Given the description of an element on the screen output the (x, y) to click on. 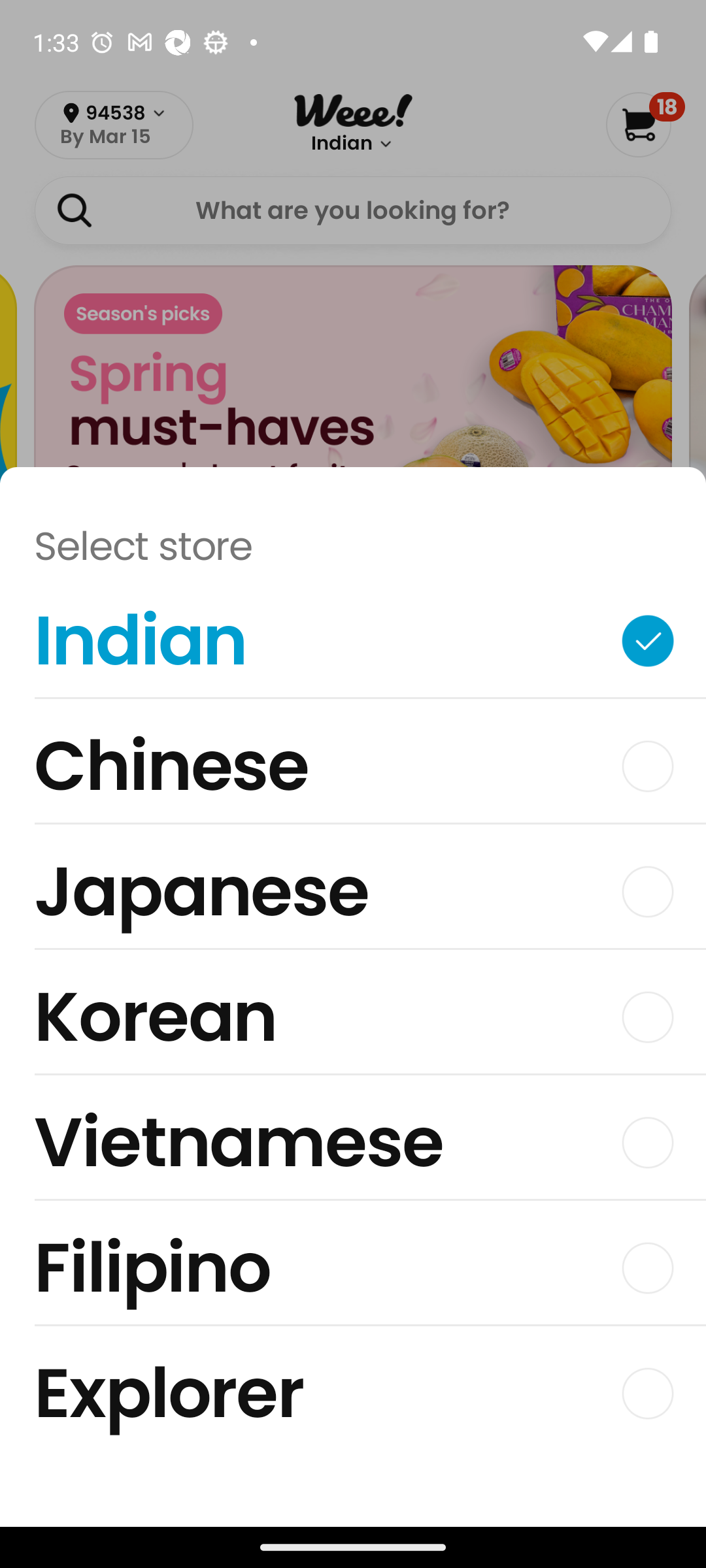
Indian (353, 645)
Chinese (353, 771)
Japanese (353, 896)
Korean (353, 1022)
Vietnamese (353, 1147)
Filipino (353, 1272)
Explorer (353, 1392)
